Given the description of an element on the screen output the (x, y) to click on. 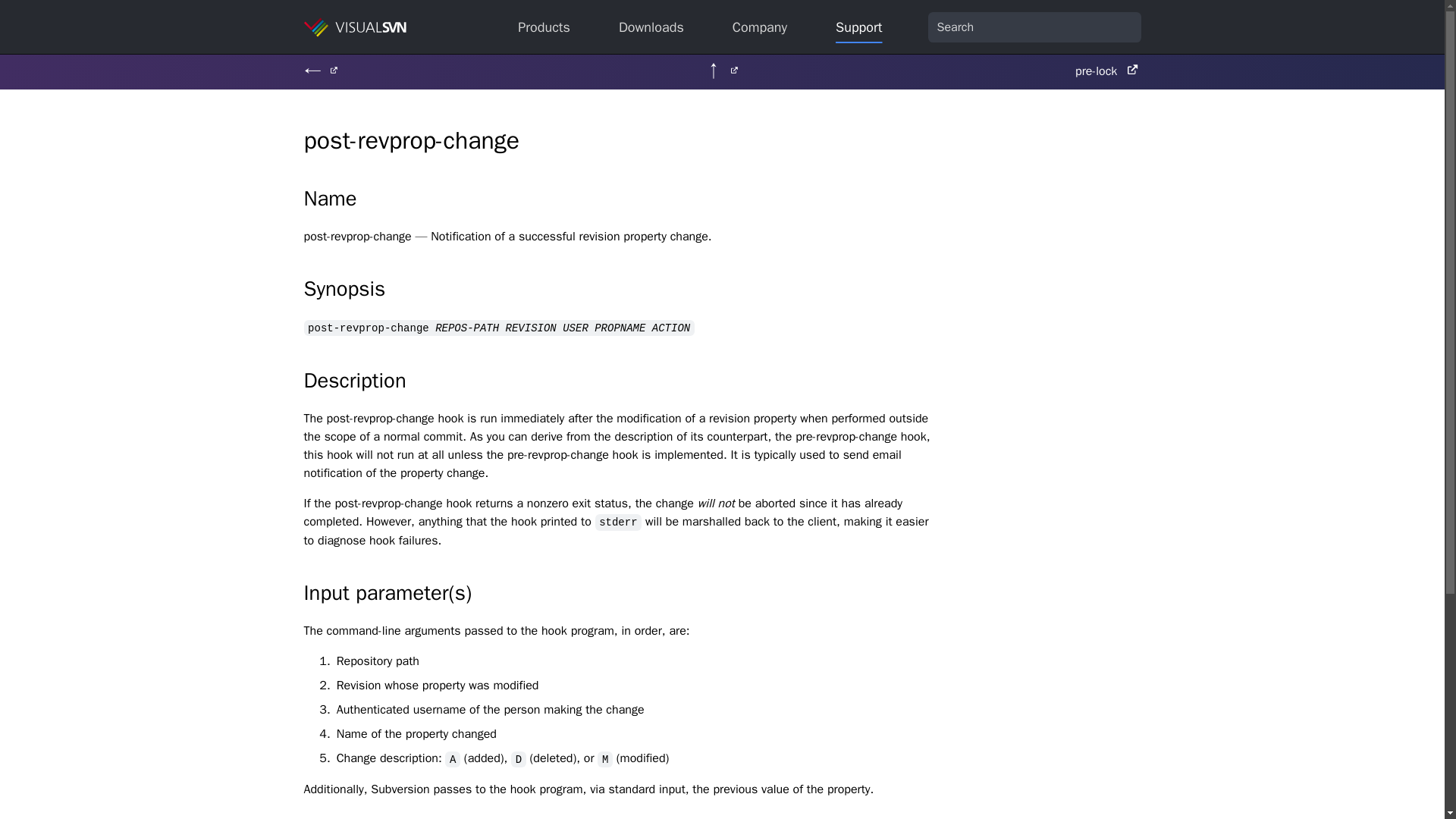
Company (758, 26)
Products (543, 26)
Support (857, 26)
Description (616, 458)
Synopsis (616, 306)
Downloads (650, 26)
